Given the description of an element on the screen output the (x, y) to click on. 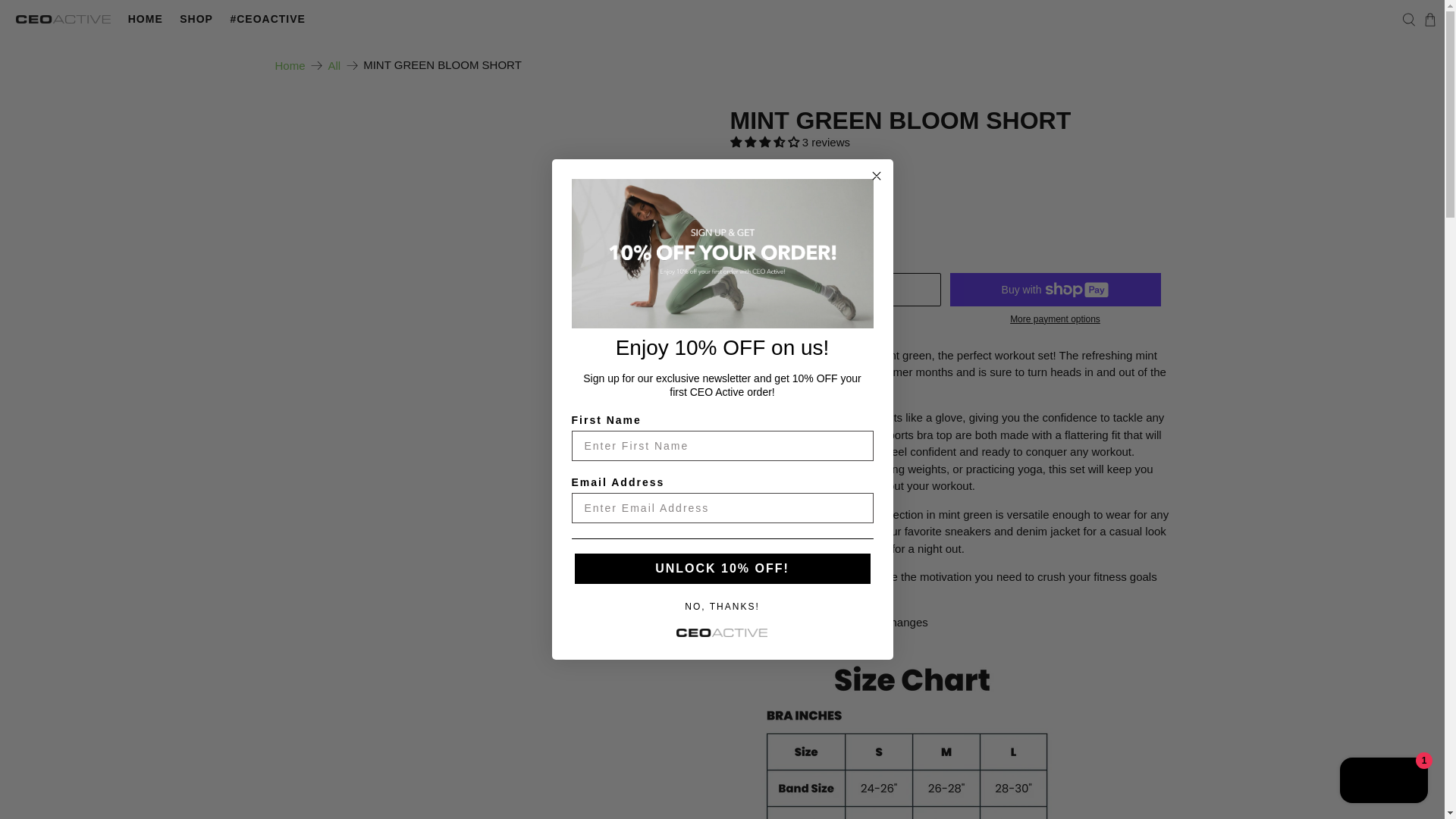
All (334, 64)
SHOP (196, 19)
HOME (145, 19)
More payment options (1054, 319)
Add to cart (834, 289)
Shopify online store chat (1383, 781)
Home (289, 64)
CEO Active (63, 19)
Close dialog 1 (876, 176)
CEO Active (289, 64)
